Given the description of an element on the screen output the (x, y) to click on. 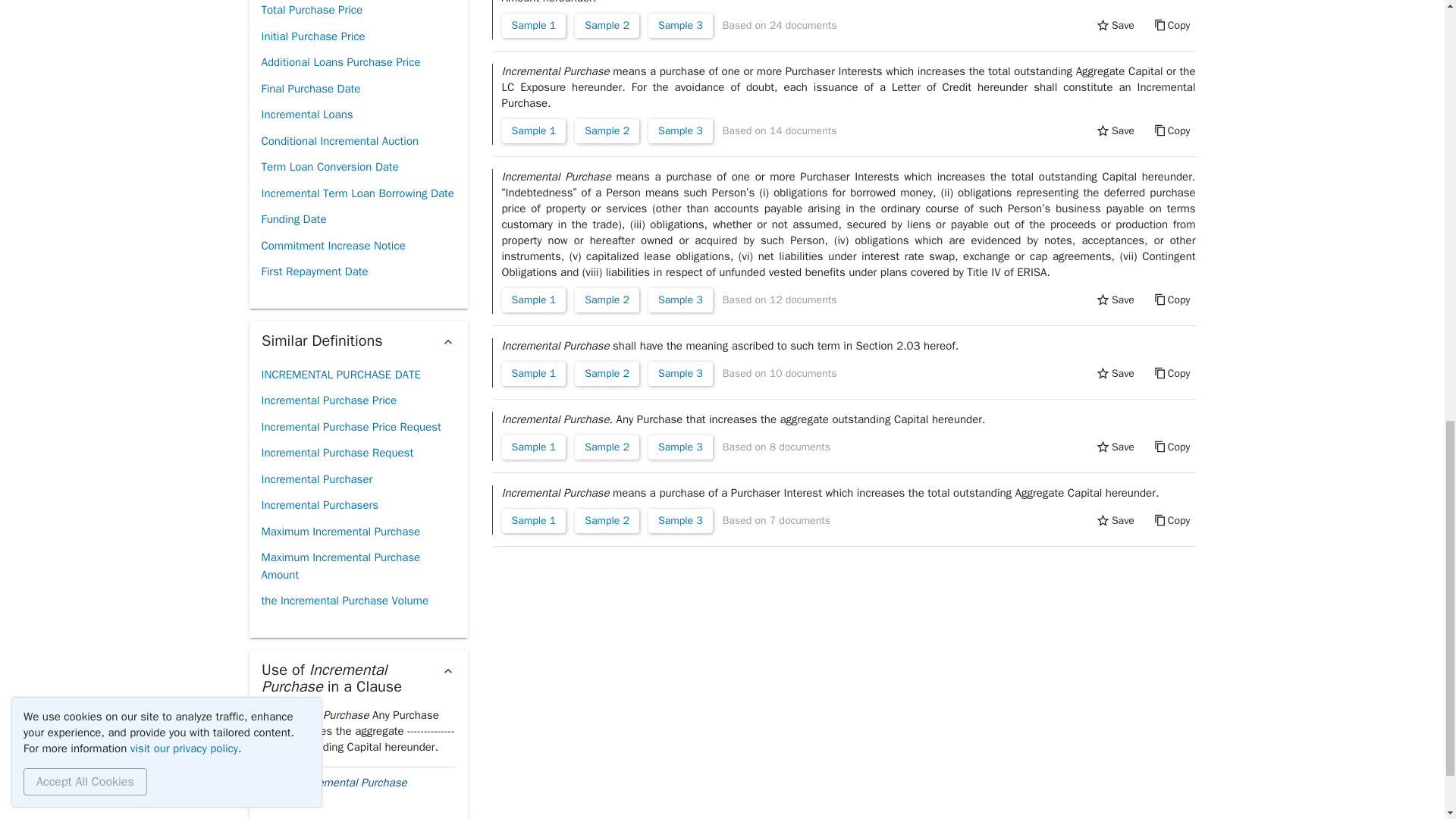
Total Purchase Price (311, 11)
Additional Loans Purchase Price (340, 62)
Initial Purchase Price (312, 36)
